Given the description of an element on the screen output the (x, y) to click on. 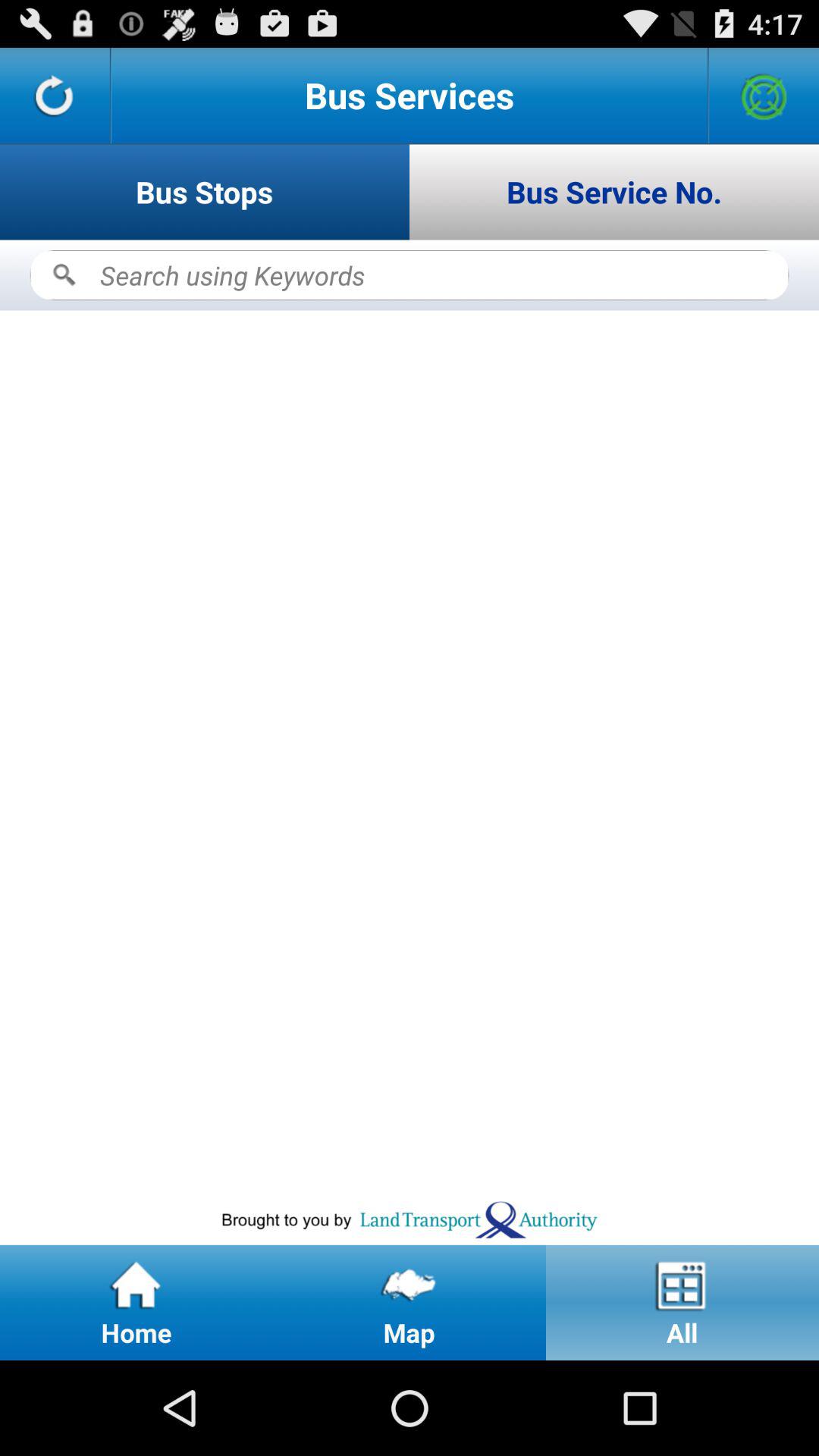
search keywords (409, 275)
